Given the description of an element on the screen output the (x, y) to click on. 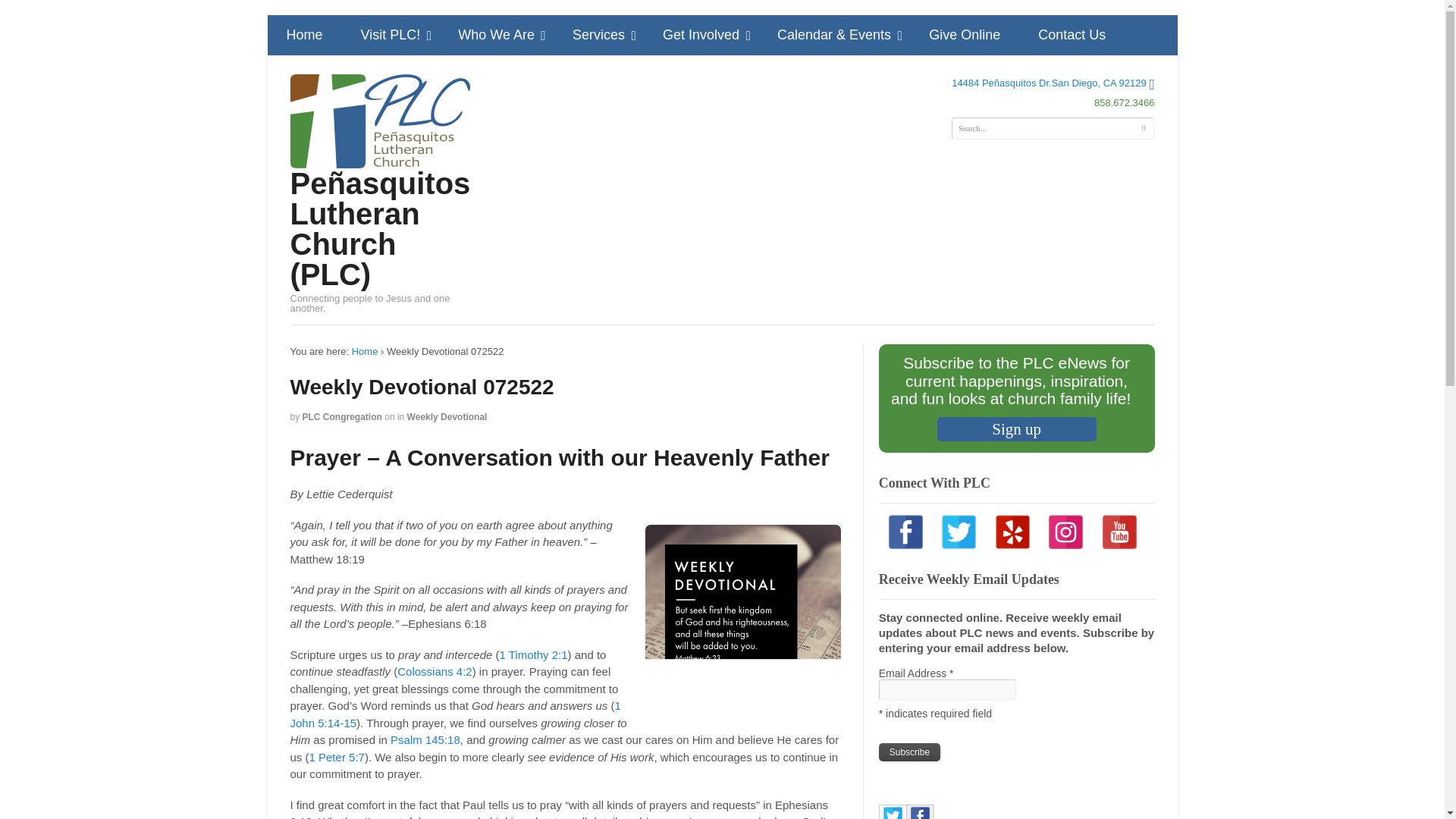
Connecting people to Jesus and one another. (378, 160)
Home (303, 35)
Get Involved (700, 35)
Who We Are (496, 35)
Subscribe (909, 751)
Posts by PLC Congregation (341, 416)
Like us on Facebook (905, 531)
Search... (1059, 127)
Services (598, 35)
Visit PLC! (390, 35)
